Given the description of an element on the screen output the (x, y) to click on. 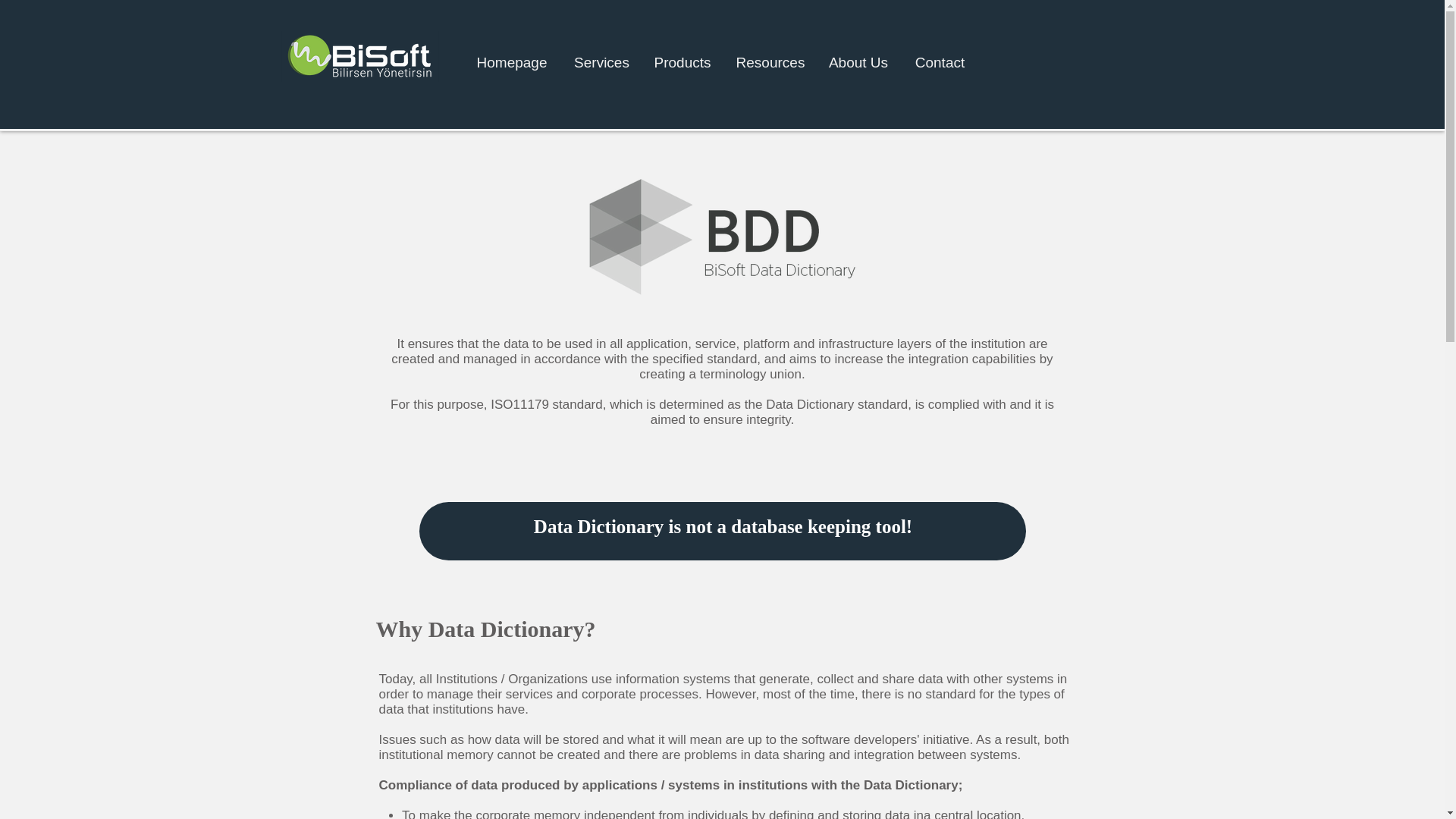
Homepage (511, 62)
Contact (939, 62)
About Us (857, 62)
